Given the description of an element on the screen output the (x, y) to click on. 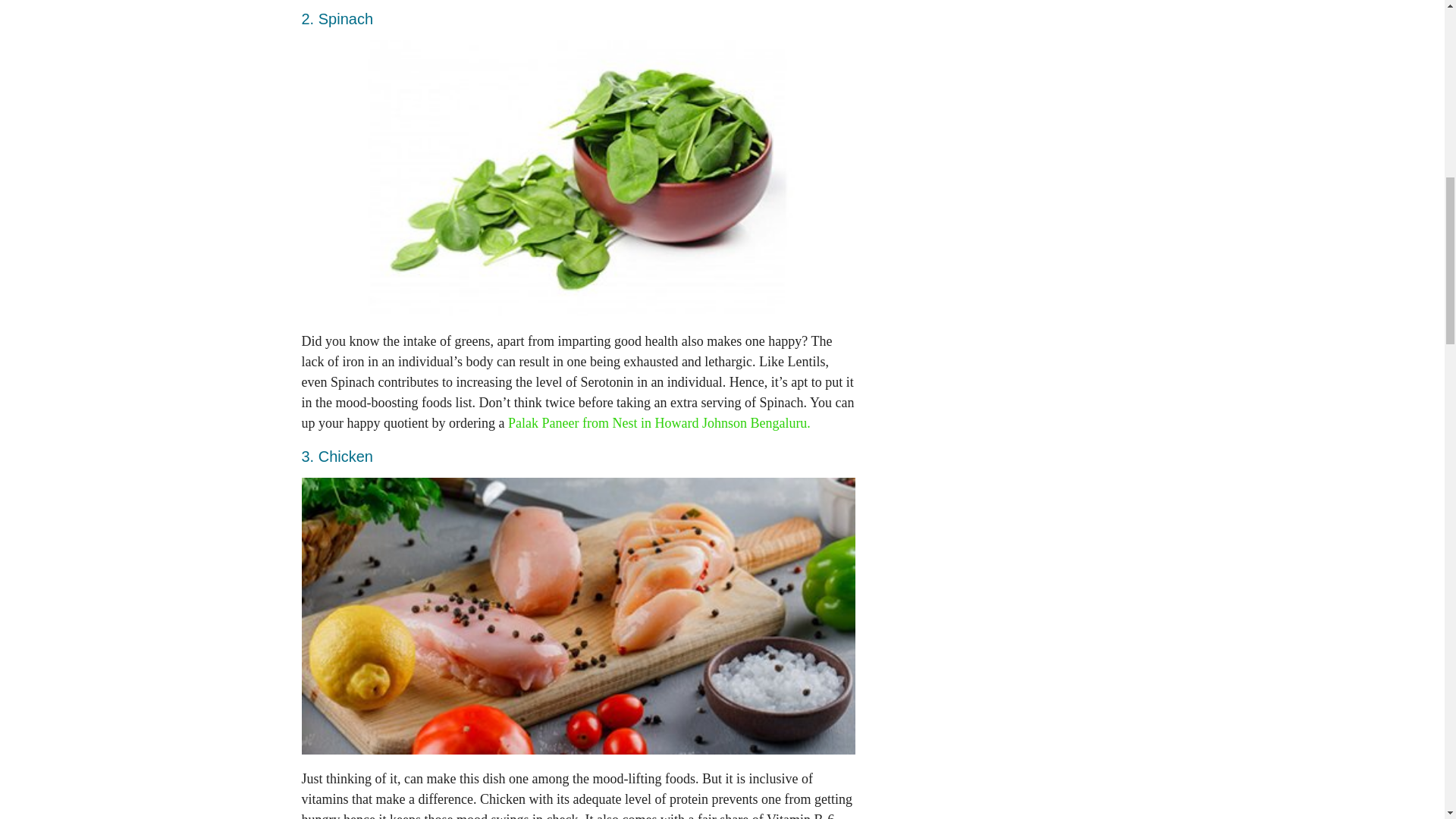
Palak Paneer from Nest in Howard Johnson Bengaluru. (659, 422)
